Given the description of an element on the screen output the (x, y) to click on. 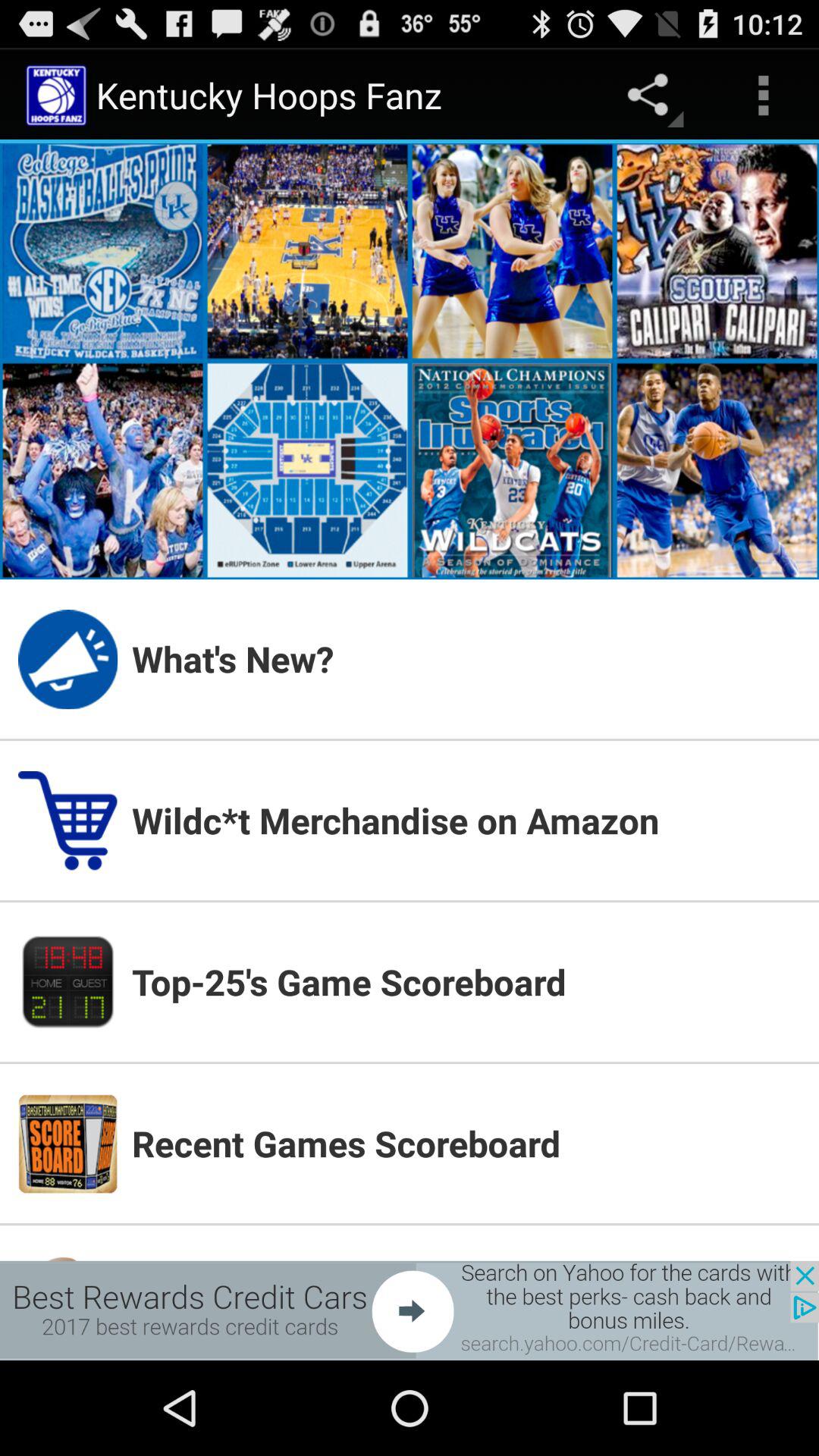
go to advertisement (409, 1310)
